Given the description of an element on the screen output the (x, y) to click on. 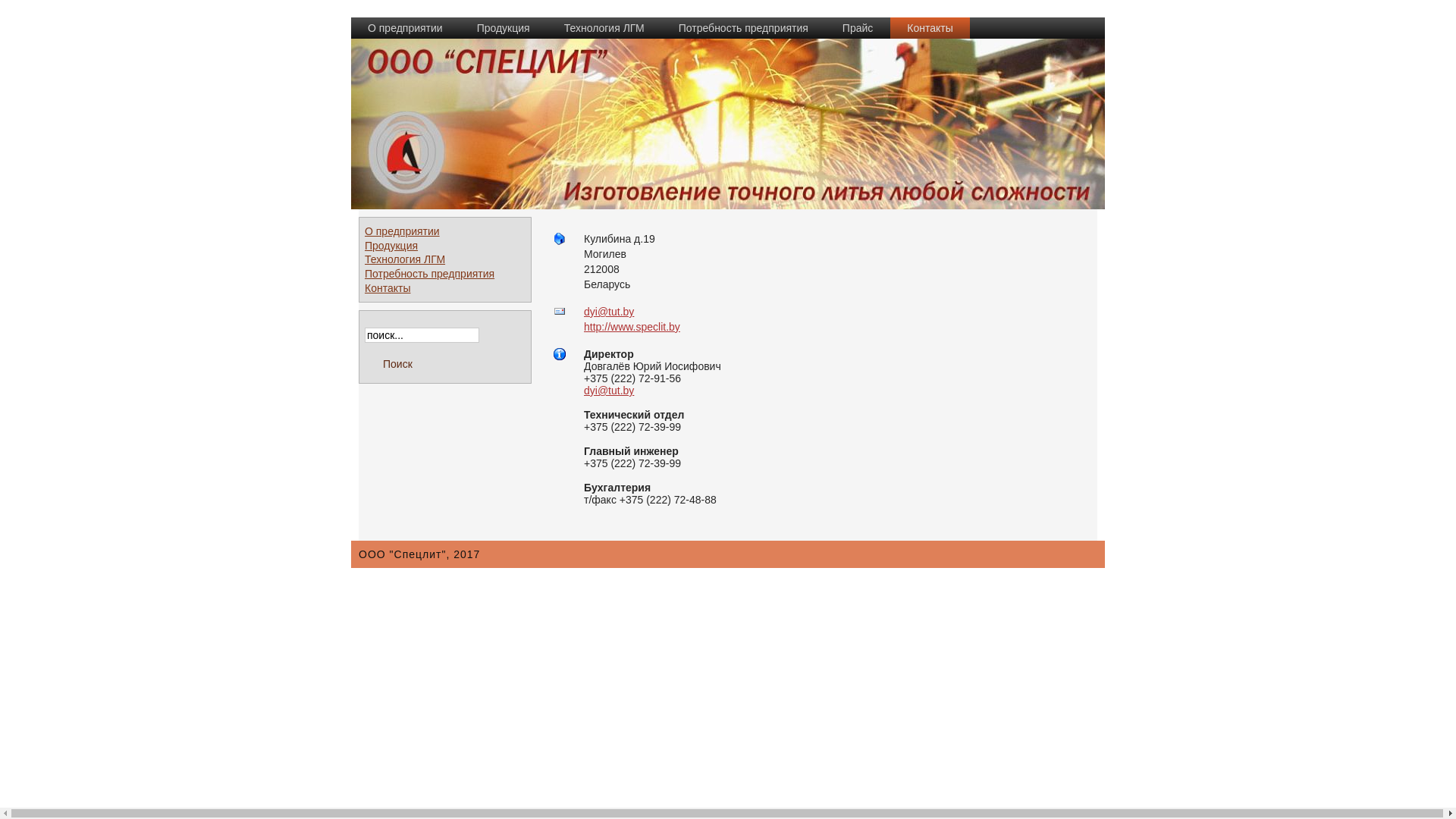
dyi@tut.by Element type: text (608, 390)
http://www.speclit.by Element type: text (631, 326)
dyi@tut.by Element type: text (608, 311)
